Given the description of an element on the screen output the (x, y) to click on. 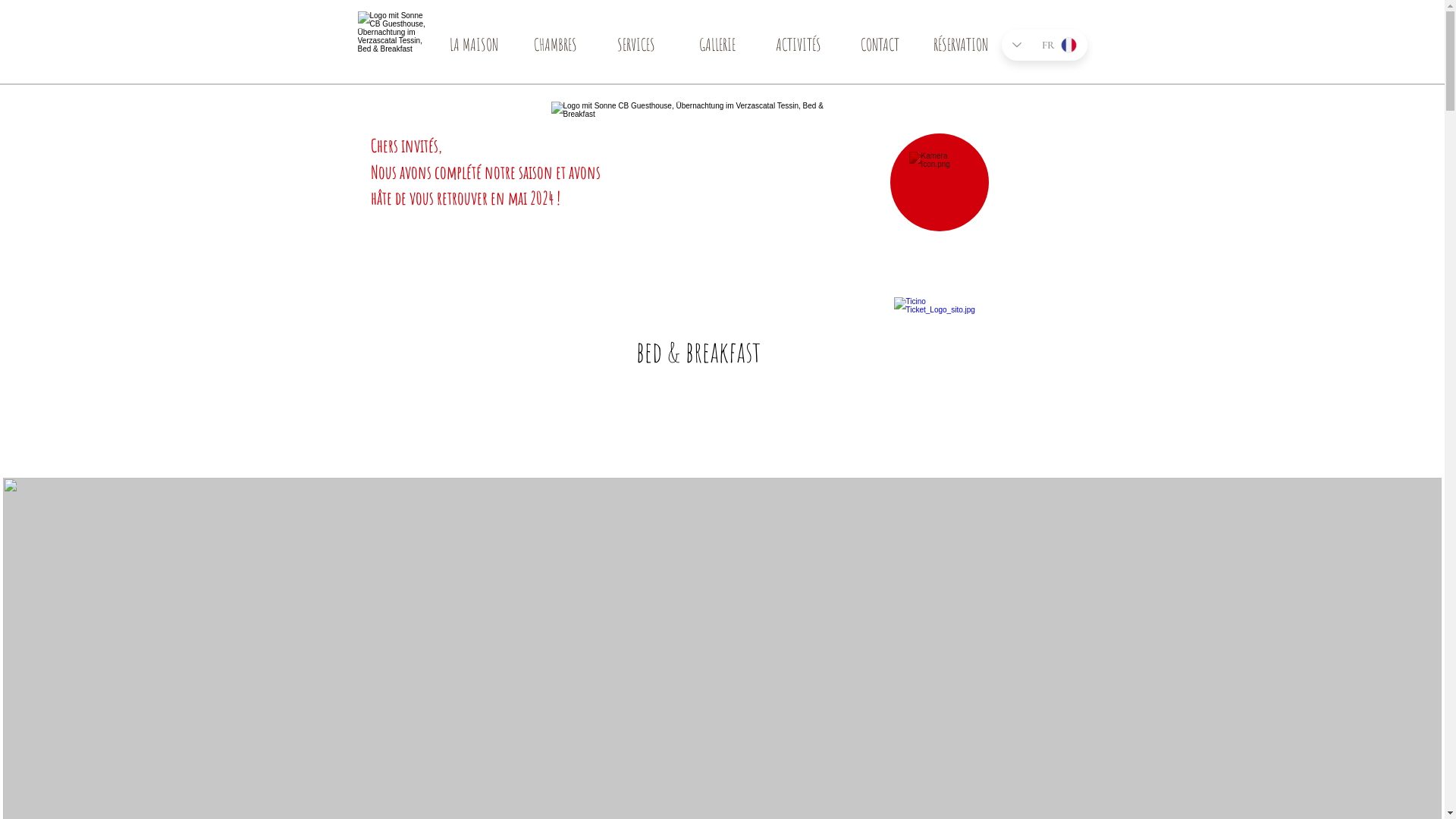
SERVICES Element type: text (636, 48)
GALLERIE Element type: text (716, 48)
CONTACT Element type: text (878, 48)
LA MAISON Element type: text (473, 48)
CHAMBRES Element type: text (554, 48)
